Given the description of an element on the screen output the (x, y) to click on. 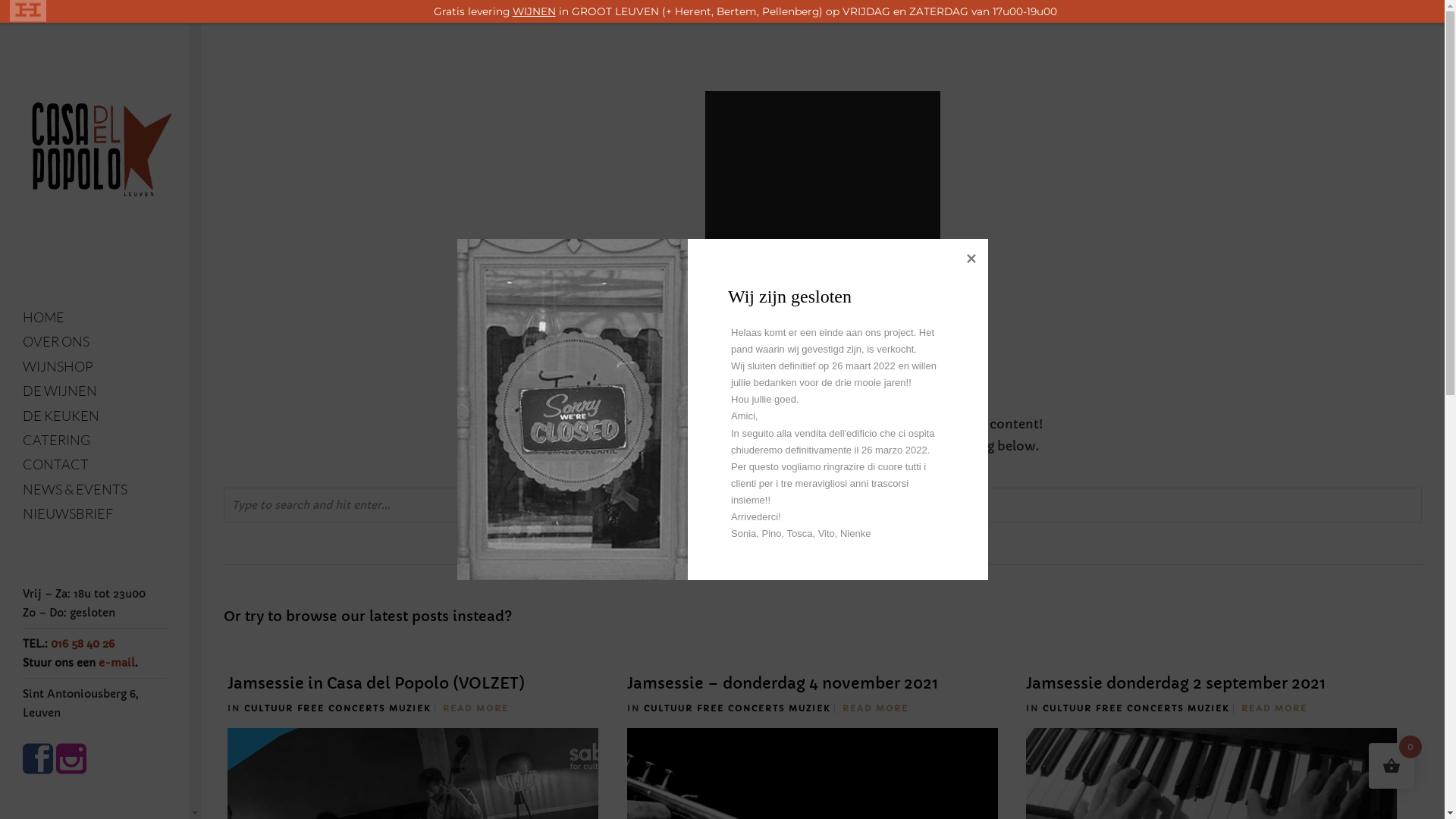
NIEUWSBRIEF Element type: text (94, 513)
016 58 40 26 Element type: text (82, 643)
HOME Element type: text (94, 316)
CATERING Element type: text (94, 439)
CULTUUR Element type: text (268, 707)
DE WIJNEN Element type: text (94, 390)
CULTUUR Element type: text (668, 707)
FREE CONCERTS Element type: text (1139, 707)
e-mail Element type: text (116, 662)
MUZIEK Element type: text (409, 707)
Jamsessie donderdag 2 september 2021 Element type: text (1175, 683)
NEWS & EVENTS Element type: text (94, 488)
MUZIEK Element type: text (1208, 707)
OVER ONS Element type: text (94, 341)
READ MORE Element type: text (875, 707)
CULTUUR Element type: text (1067, 707)
MUZIEK Element type: text (809, 707)
DE KEUKEN Element type: text (94, 415)
FREE CONCERTS Element type: text (341, 707)
READ MORE Element type: text (475, 707)
READ MORE Element type: text (1274, 707)
WIJNSHOP Element type: text (94, 366)
FREE CONCERTS Element type: text (740, 707)
CONTACT Element type: text (94, 463)
Jamsessie in Casa del Popolo (VOLZET) Element type: text (375, 683)
